Given the description of an element on the screen output the (x, y) to click on. 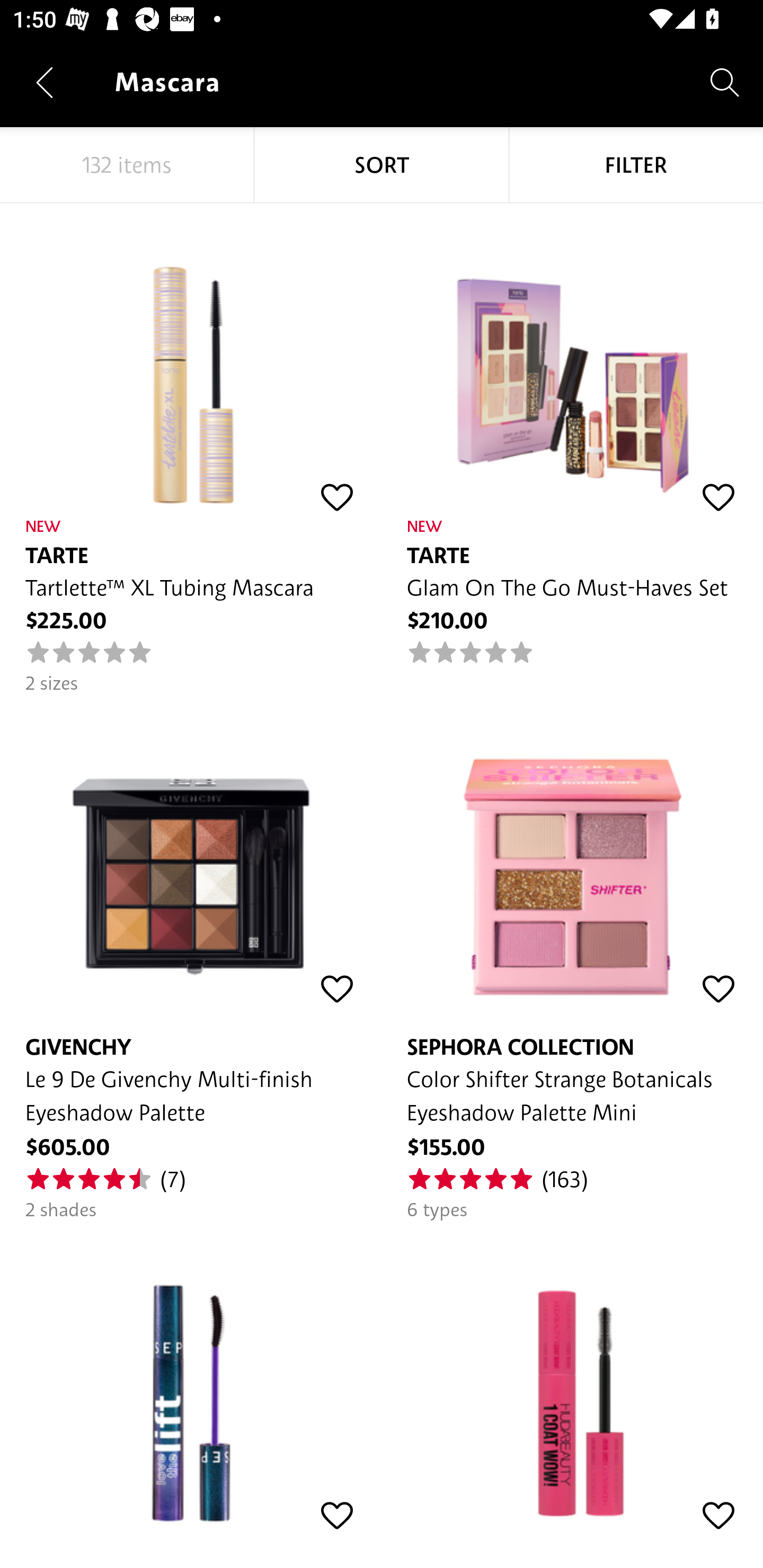
Navigate up (44, 82)
Search (724, 81)
SORT (381, 165)
FILTER (636, 165)
NEW TARTE Glam On The Go Must-Haves Set $210.00 (571, 434)
SEPHORA COLLECTION (190, 1381)
HUDA BEAUTY (571, 1381)
